Given the description of an element on the screen output the (x, y) to click on. 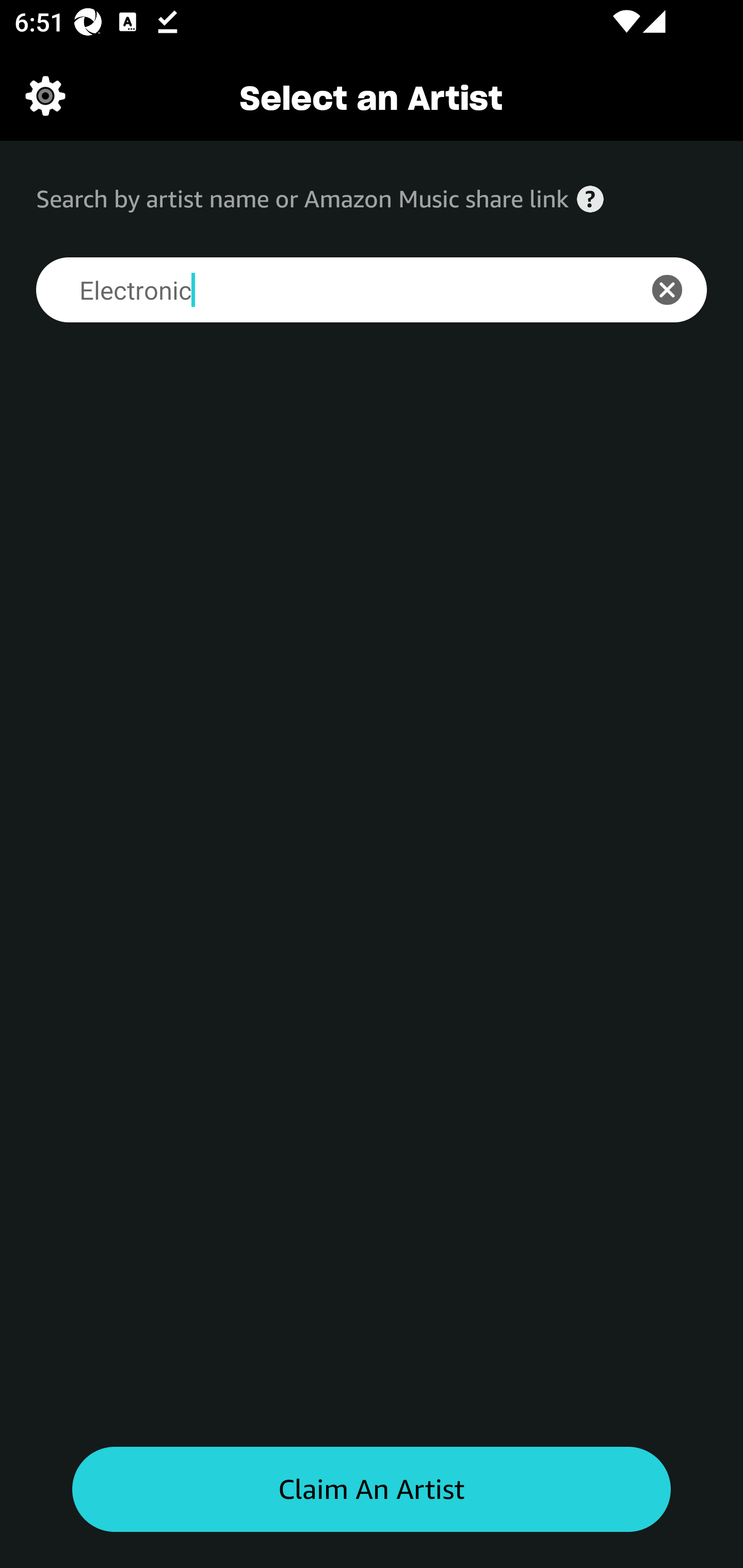
Help  icon (589, 199)
Electronic Search for an artist search bar (324, 290)
 icon (677, 290)
Claim an artist button Claim An Artist (371, 1489)
